Given the description of an element on the screen output the (x, y) to click on. 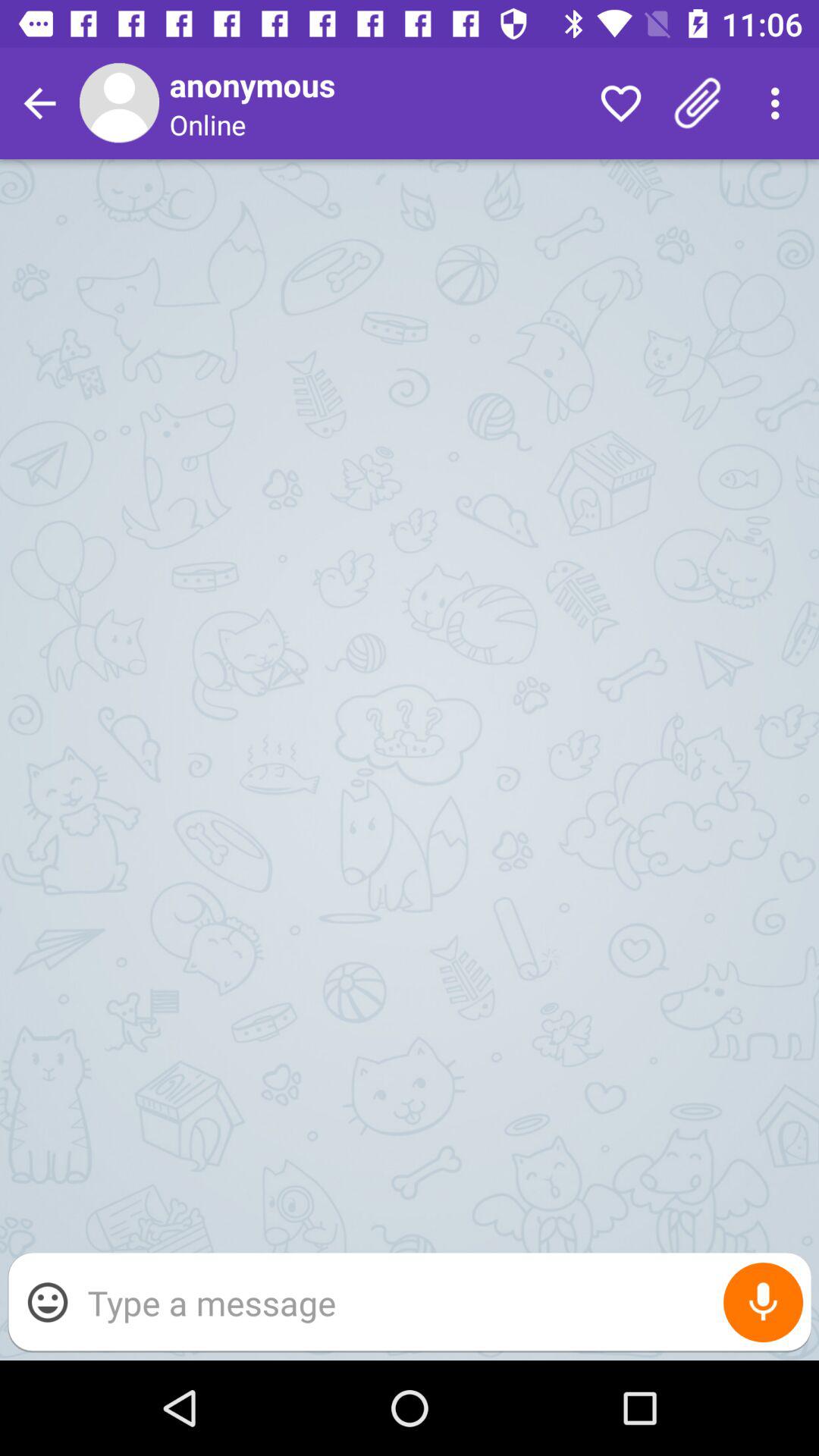
open microphone (763, 1302)
